Given the description of an element on the screen output the (x, y) to click on. 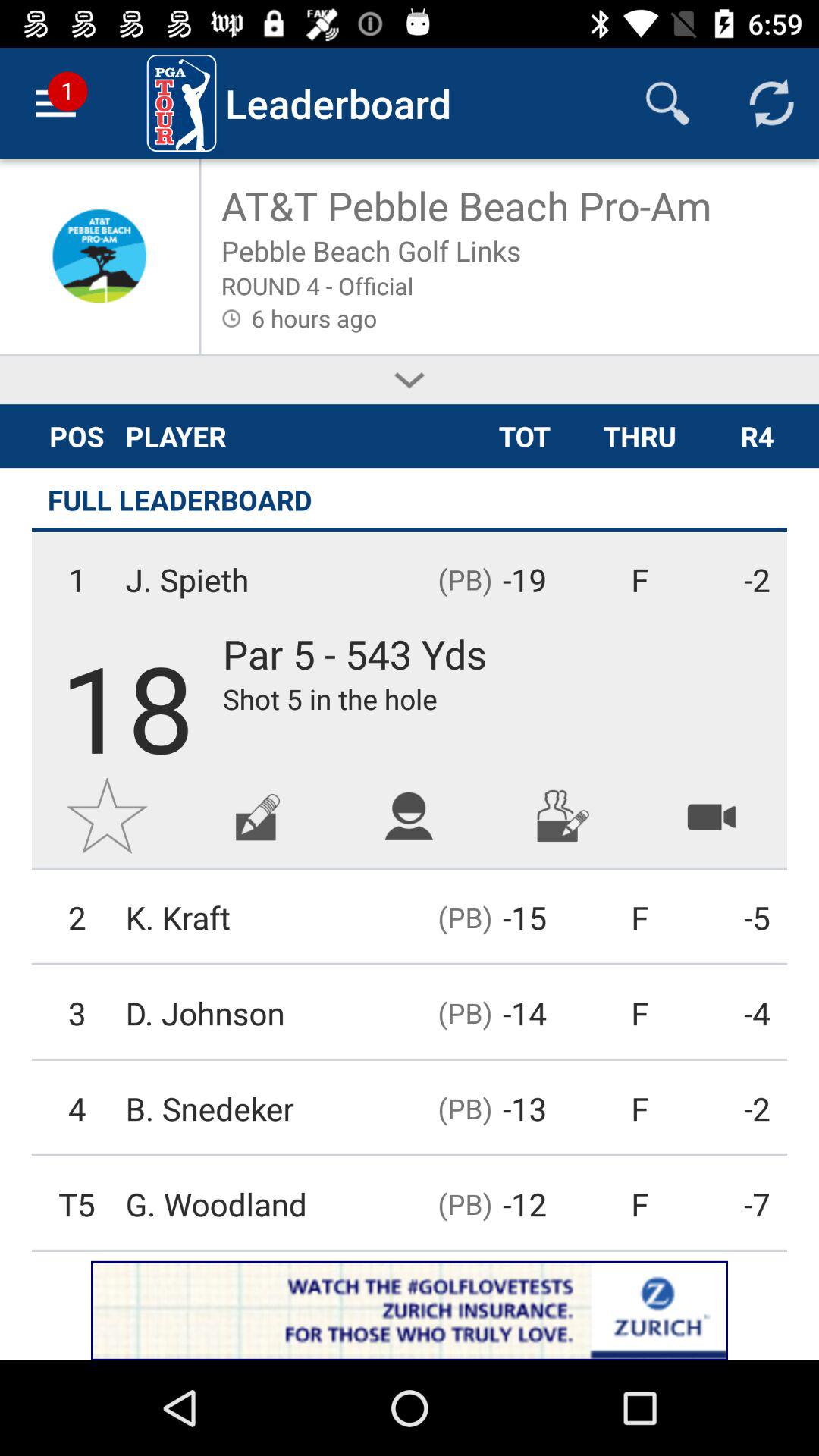
open type box (257, 815)
